Given the description of an element on the screen output the (x, y) to click on. 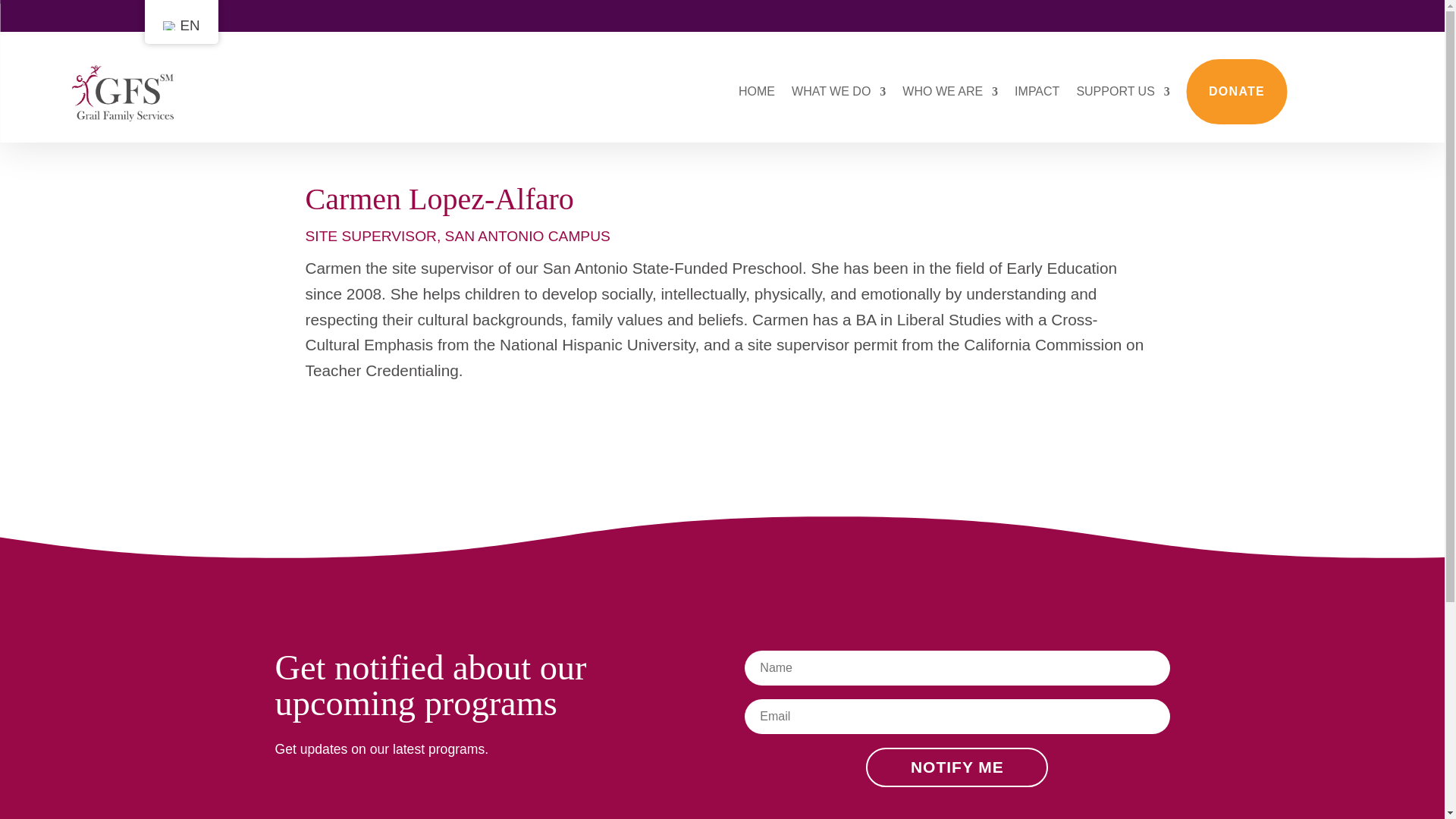
NOTIFY ME (957, 767)
DONATE (1236, 91)
WHAT WE DO (838, 91)
EN (180, 25)
English (168, 25)
WHO WE ARE (949, 91)
SUPPORT US (1122, 91)
